Given the description of an element on the screen output the (x, y) to click on. 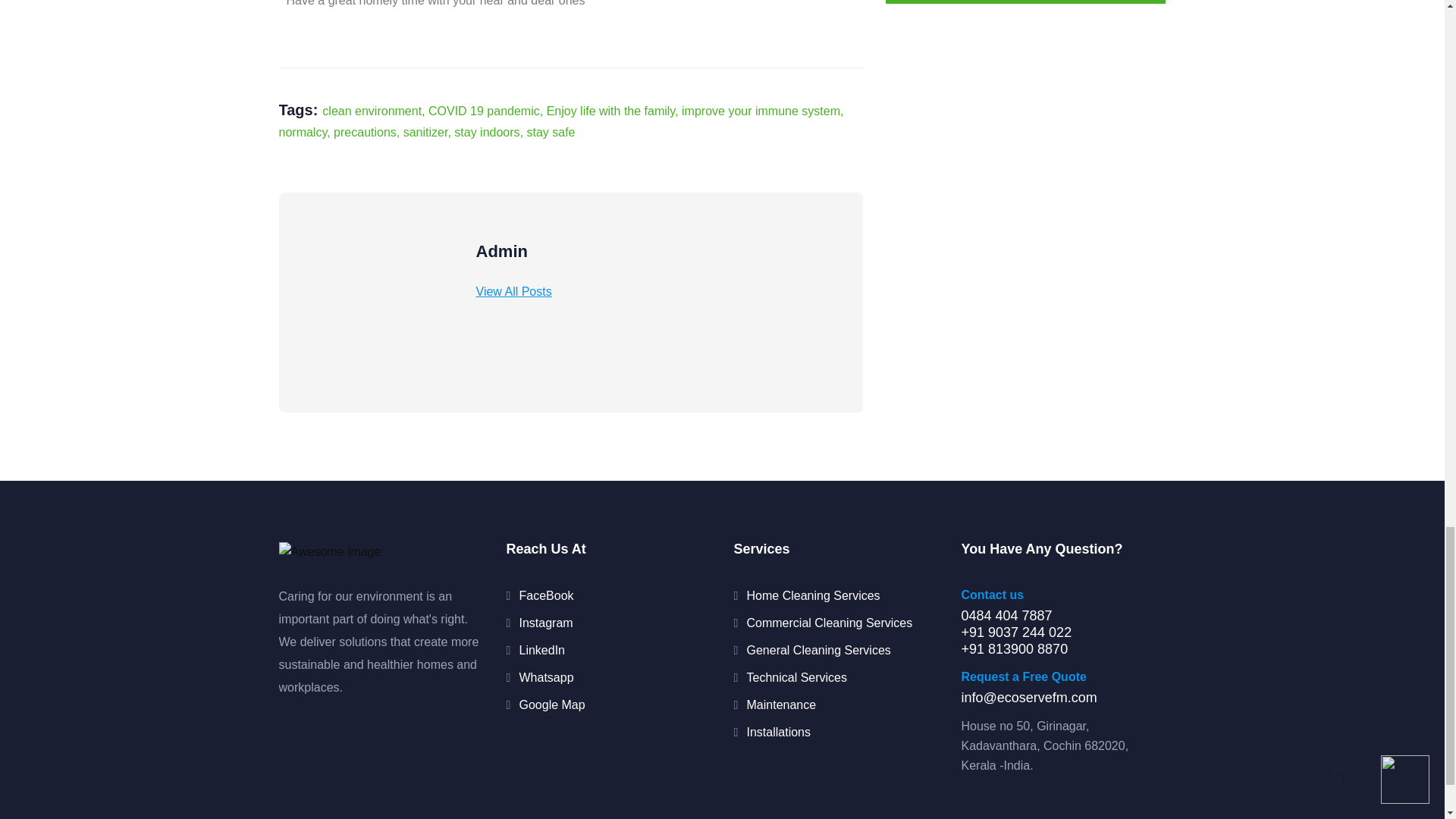
sanitizer (425, 132)
improve your immune system (760, 110)
stay indoors (486, 132)
COVID 19 pandemic (484, 110)
clean environment (371, 110)
precautions (364, 132)
stay safe (550, 132)
Enjoy life with the family (611, 110)
normalcy (303, 132)
View All Posts (513, 291)
